Given the description of an element on the screen output the (x, y) to click on. 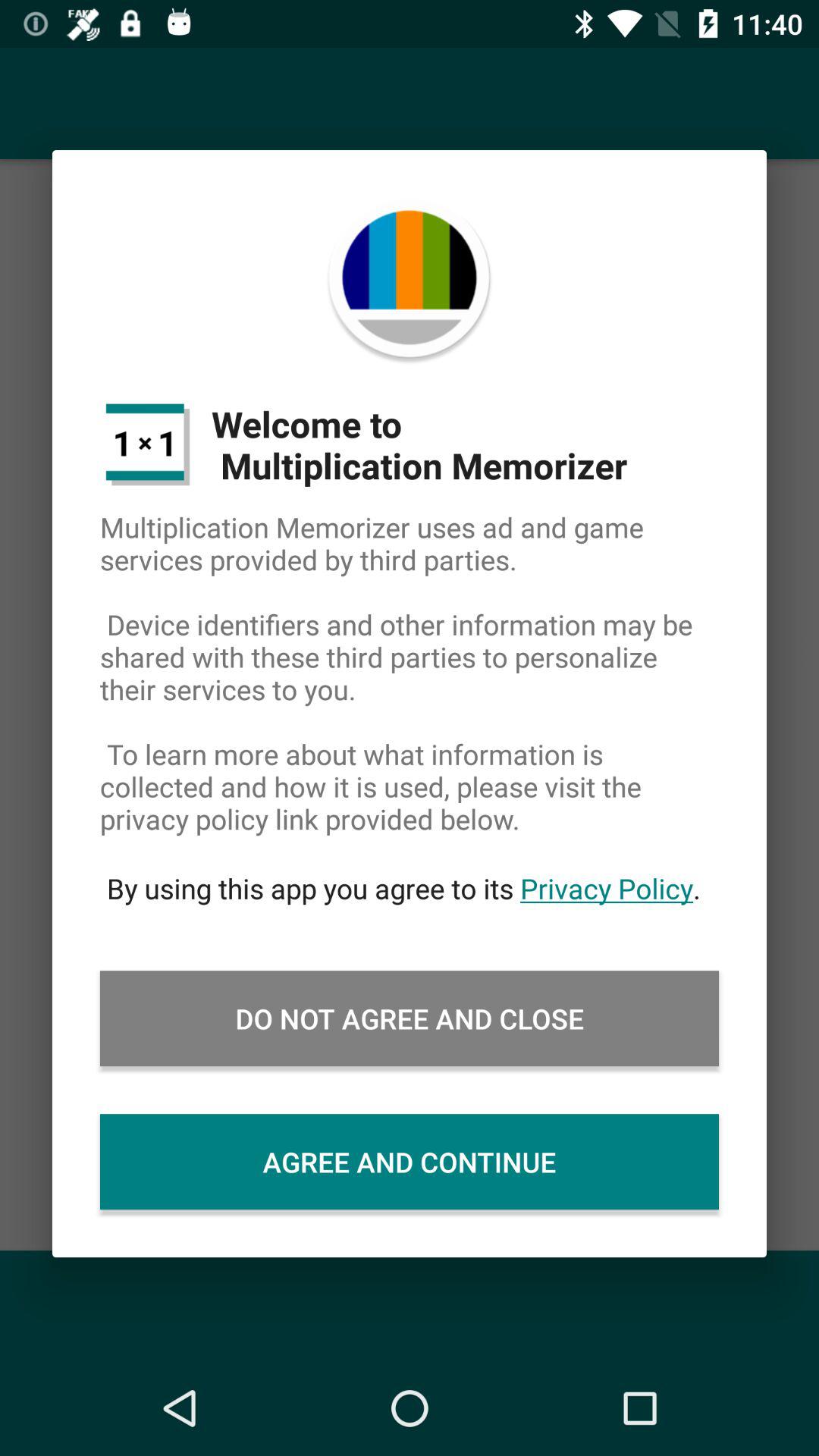
launch icon above do not agree item (409, 888)
